Given the description of an element on the screen output the (x, y) to click on. 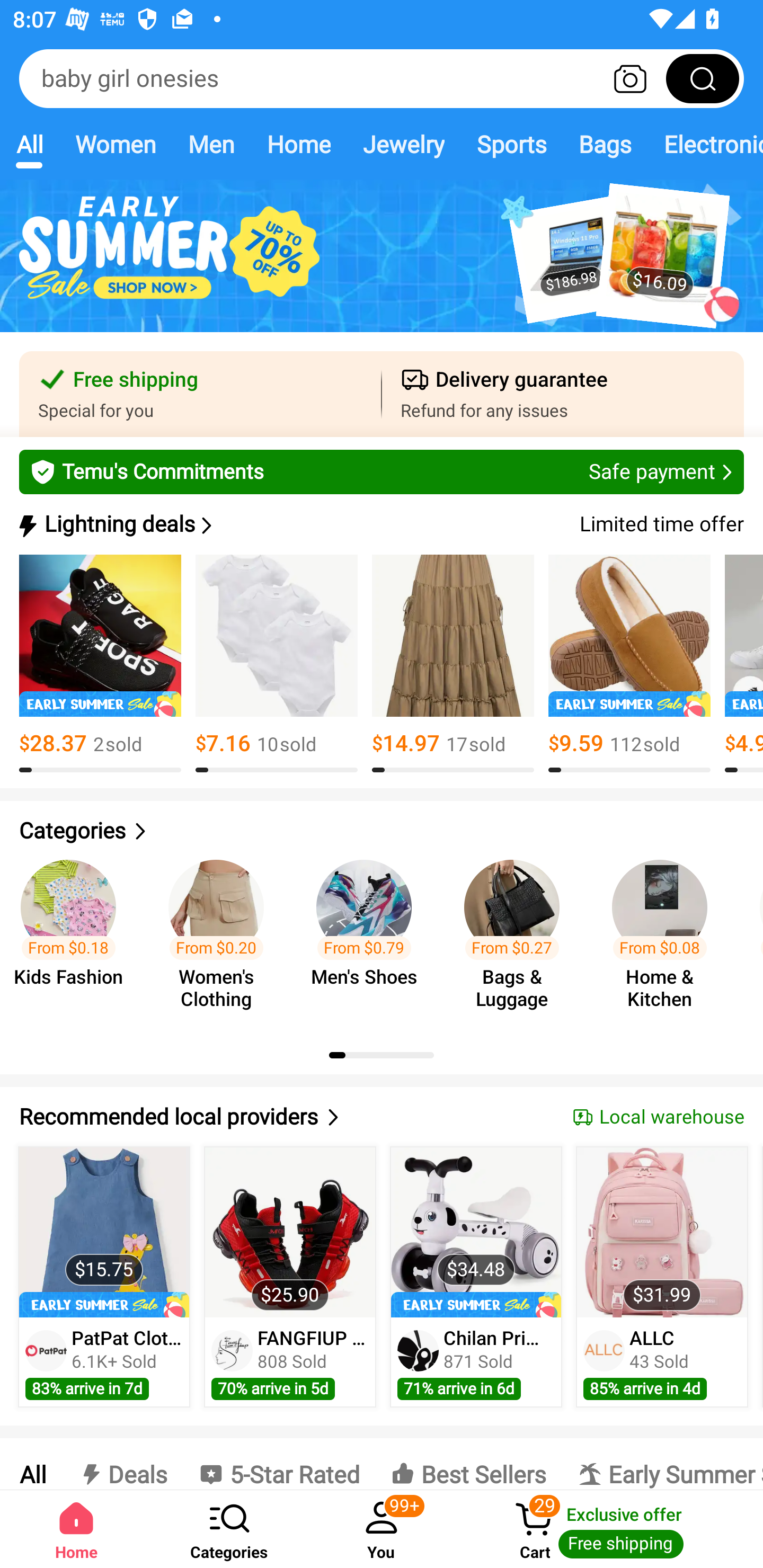
baby girl onesies (381, 78)
All (29, 144)
Women (115, 144)
Men (211, 144)
Home (298, 144)
Jewelry (403, 144)
Sports (511, 144)
Bags (605, 144)
Electronics (705, 144)
$186.98 $16.09 (381, 265)
Free shipping Special for you (200, 394)
Delivery guarantee Refund for any issues (562, 394)
Temu's Commitments (381, 471)
Lightning deals Lightning deals Limited time offer (379, 524)
$28.37 2￼sold 8.0 (100, 664)
$7.16 10￼sold 8.0 (276, 664)
$14.97 17￼sold 8.0 (453, 664)
$9.59 112￼sold 8.0 (629, 664)
Categories (381, 830)
From $0.18 Kids Fashion (74, 936)
From $0.20 Women's Clothing (222, 936)
From $0.79 Men's Shoes (369, 936)
From $0.27 Bags & Luggage (517, 936)
From $0.08 Home & Kitchen (665, 936)
$15.75 PatPat Clothing 6.1K+ Sold 83% arrive in 7d (103, 1276)
$31.99 ALLC 43 Sold 85% arrive in 4d (661, 1276)
$15.75 (104, 1232)
$25.90 (290, 1232)
$34.48 (475, 1232)
$31.99 (661, 1232)
All (32, 1463)
Deals Deals Deals (122, 1463)
5-Star Rated 5-Star Rated 5-Star Rated (279, 1463)
Best Sellers Best Sellers Best Sellers (468, 1463)
Home (76, 1528)
Categories (228, 1528)
You ‎99+‎ You (381, 1528)
Cart 29 Cart Exclusive offer (610, 1528)
